Given the description of an element on the screen output the (x, y) to click on. 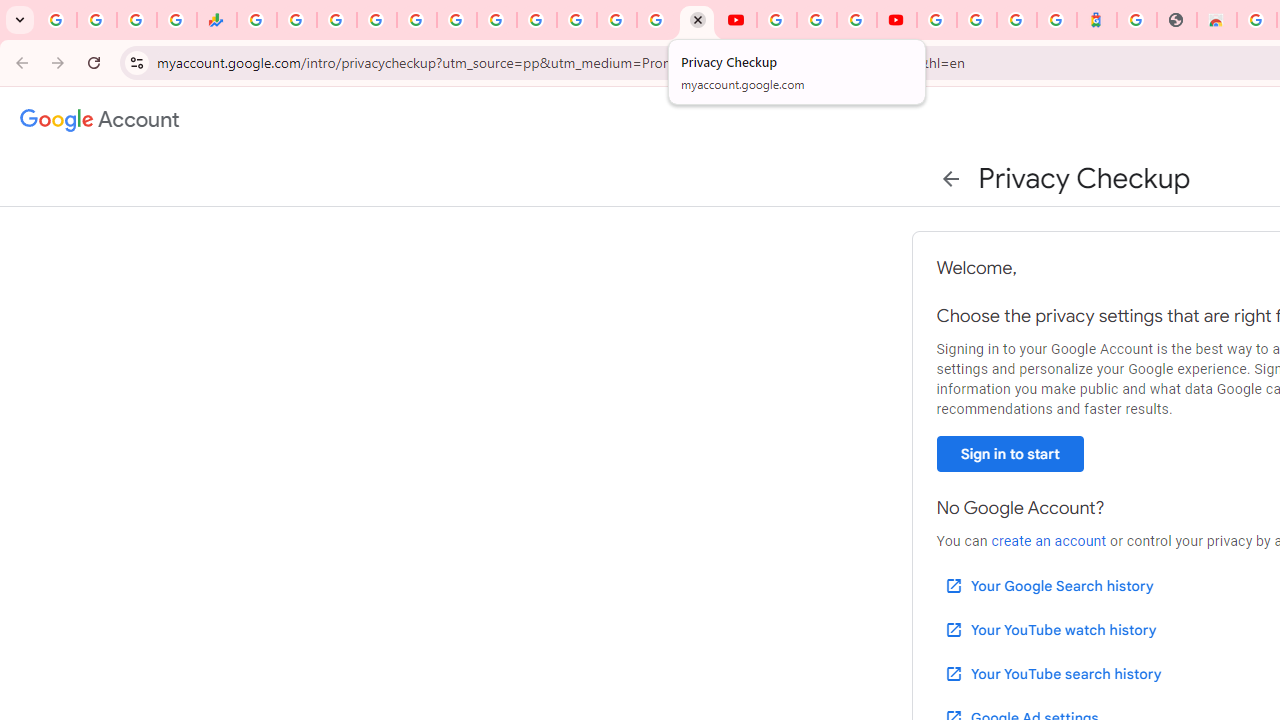
Chrome Web Store - Household (1216, 20)
YouTube (736, 20)
Sign in - Google Accounts (657, 20)
YouTube (536, 20)
